Given the description of an element on the screen output the (x, y) to click on. 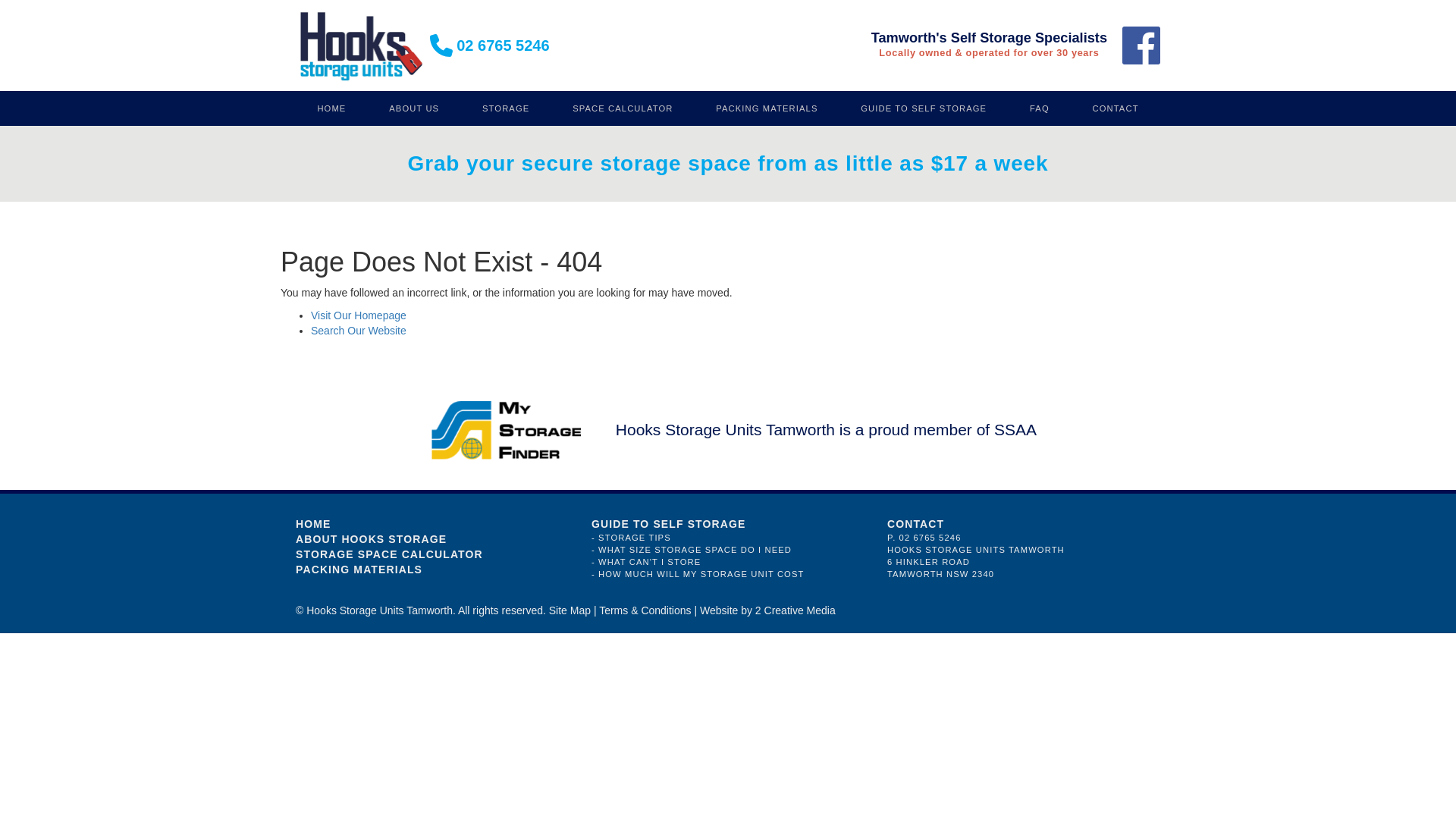
CONTACT Element type: text (1115, 108)
GUIDE TO SELF STORAGE Element type: text (923, 108)
STORAGE SPACE CALCULATOR Element type: text (431, 553)
ABOUT HOOKS STORAGE Element type: text (431, 538)
SPACE CALCULATOR Element type: text (622, 108)
02 6765 5246 Element type: text (502, 45)
Terms & Conditions Element type: text (644, 610)
- HOW MUCH WILL MY STORAGE UNIT COST Element type: text (727, 573)
FAQ Element type: text (1039, 108)
Site Map Element type: text (569, 610)
Visit Our Homepage Element type: text (358, 315)
- WHAT SIZE STORAGE SPACE DO I NEED Element type: text (727, 549)
HOME Element type: text (331, 108)
Search Our Website Element type: text (358, 330)
- STORAGE TIPS Element type: text (727, 537)
- WHAT CAN'T I STORE Element type: text (727, 561)
STORAGE Element type: text (506, 108)
Website by 2 Creative Media Element type: text (767, 610)
ABOUT US Element type: text (414, 108)
PACKING MATERIALS Element type: text (766, 108)
HOME Element type: text (431, 523)
PACKING MATERIALS Element type: text (431, 569)
